Given the description of an element on the screen output the (x, y) to click on. 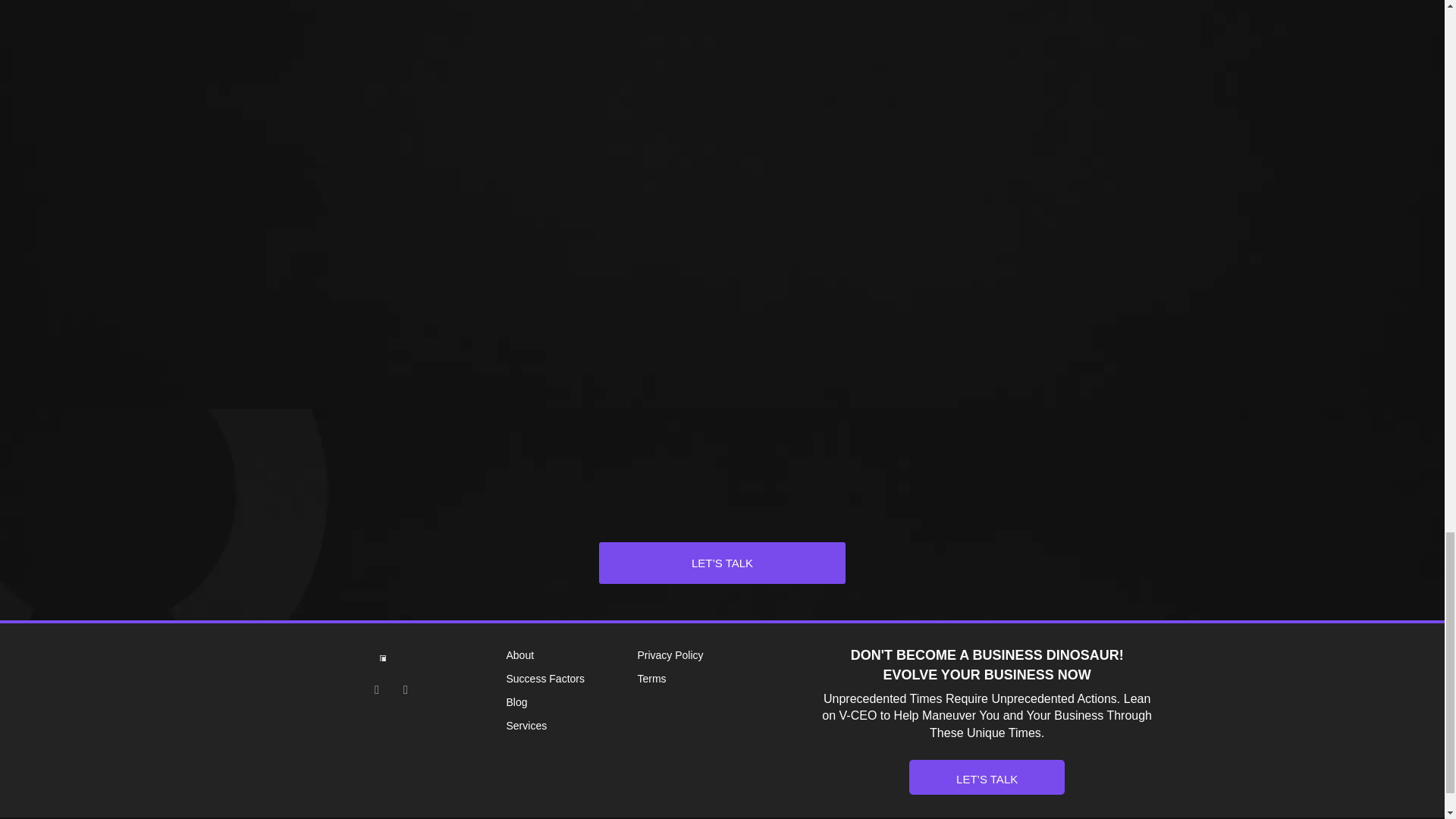
Blog (571, 702)
Terms (727, 679)
About (571, 655)
Linkedin (405, 689)
Privacy Policy (727, 655)
Success Factors (571, 679)
Facebook-f (376, 689)
Services (571, 726)
